Given the description of an element on the screen output the (x, y) to click on. 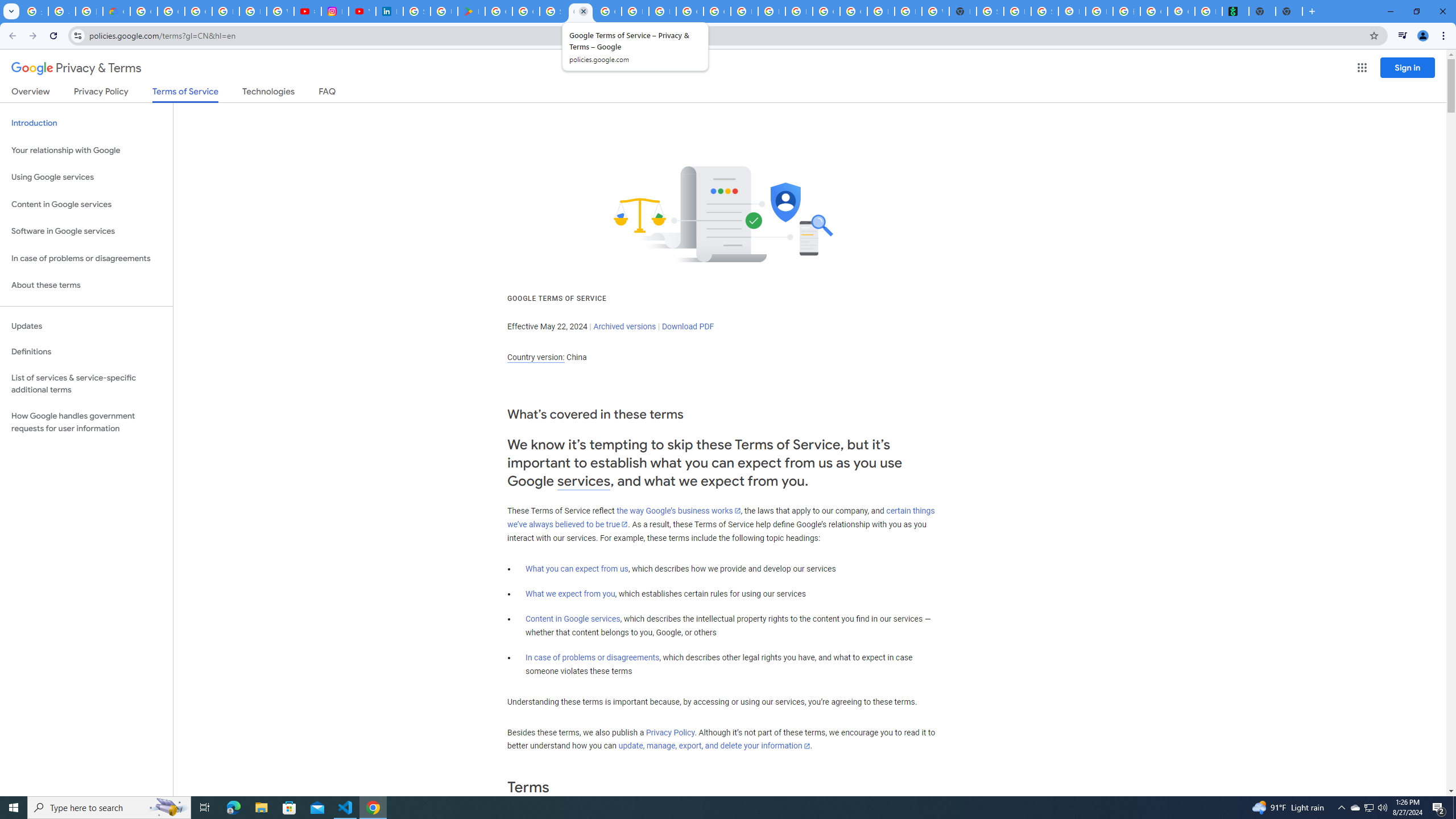
Browse Chrome as a guest - Computer - Google Chrome Help (743, 11)
Download PDF (687, 326)
Browse Chrome as a guest - Computer - Google Chrome Help (880, 11)
Your relationship with Google (86, 150)
